Given the description of an element on the screen output the (x, y) to click on. 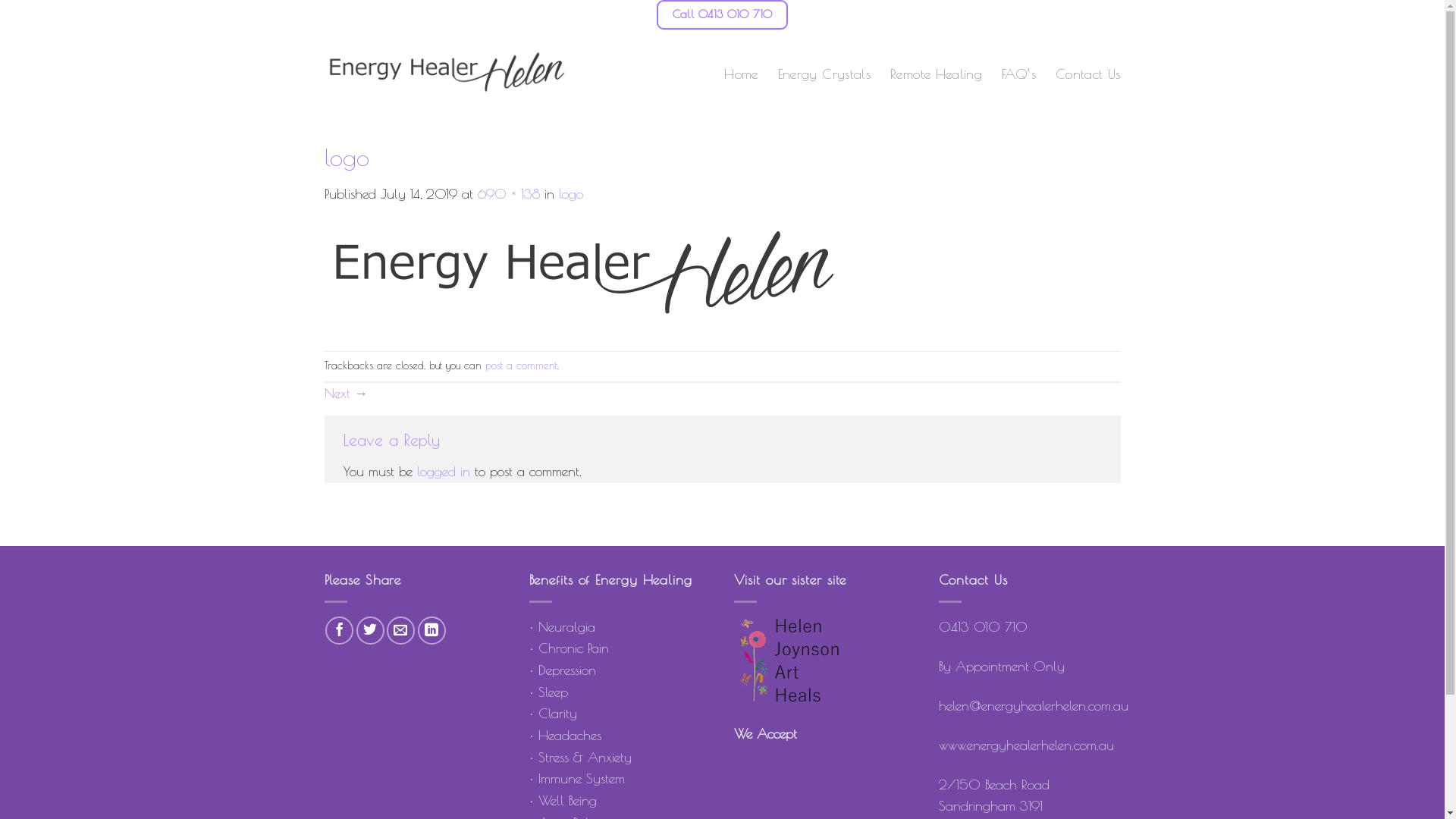
Energy Crystals Element type: text (824, 73)
Home Element type: text (740, 73)
Share on Facebook Element type: hover (339, 630)
post a comment Element type: text (521, 364)
Remote Healing Element type: text (936, 73)
Call 0413 010 710 Element type: text (721, 14)
www.energyhealerhelen.com.au Element type: text (1025, 745)
logo Element type: text (570, 193)
Follow on Facebook Element type: hover (1079, 14)
Share on Twitter Element type: hover (370, 630)
Energy Healer Helen - Connect to your soul Element type: hover (447, 74)
logged in Element type: text (443, 471)
logo Element type: hover (585, 276)
Share on LinkedIn Element type: hover (431, 630)
helen@energyhealerhelen.com.au Element type: text (1033, 705)
Follow on Instagram Element type: hover (1106, 14)
Email to a Friend Element type: hover (400, 630)
Contact Us Element type: text (1087, 73)
